Given the description of an element on the screen output the (x, y) to click on. 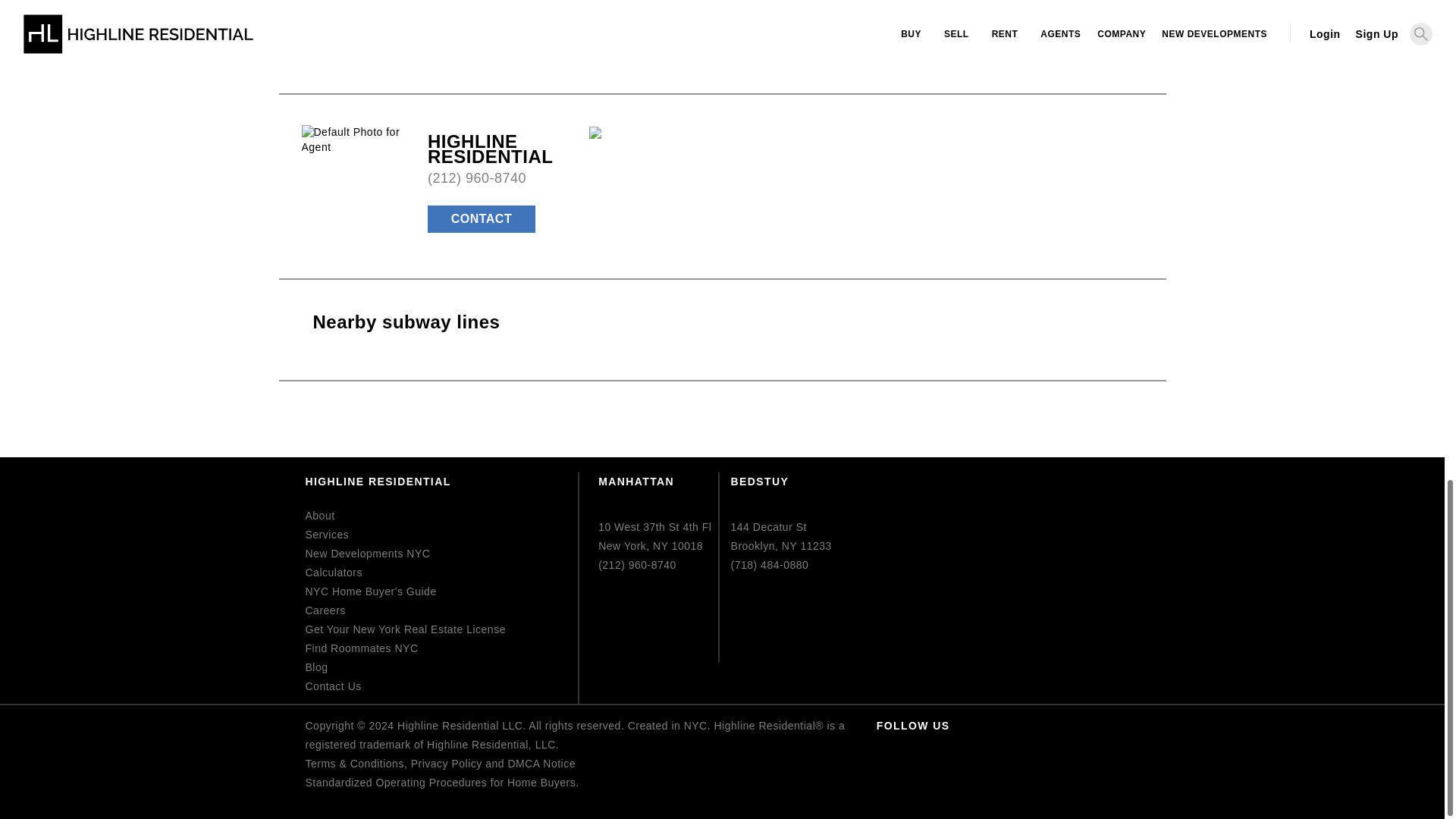
CONTACT (481, 218)
New Developments NYC (366, 553)
About (319, 515)
Services (326, 534)
Calculators (333, 572)
